Given the description of an element on the screen output the (x, y) to click on. 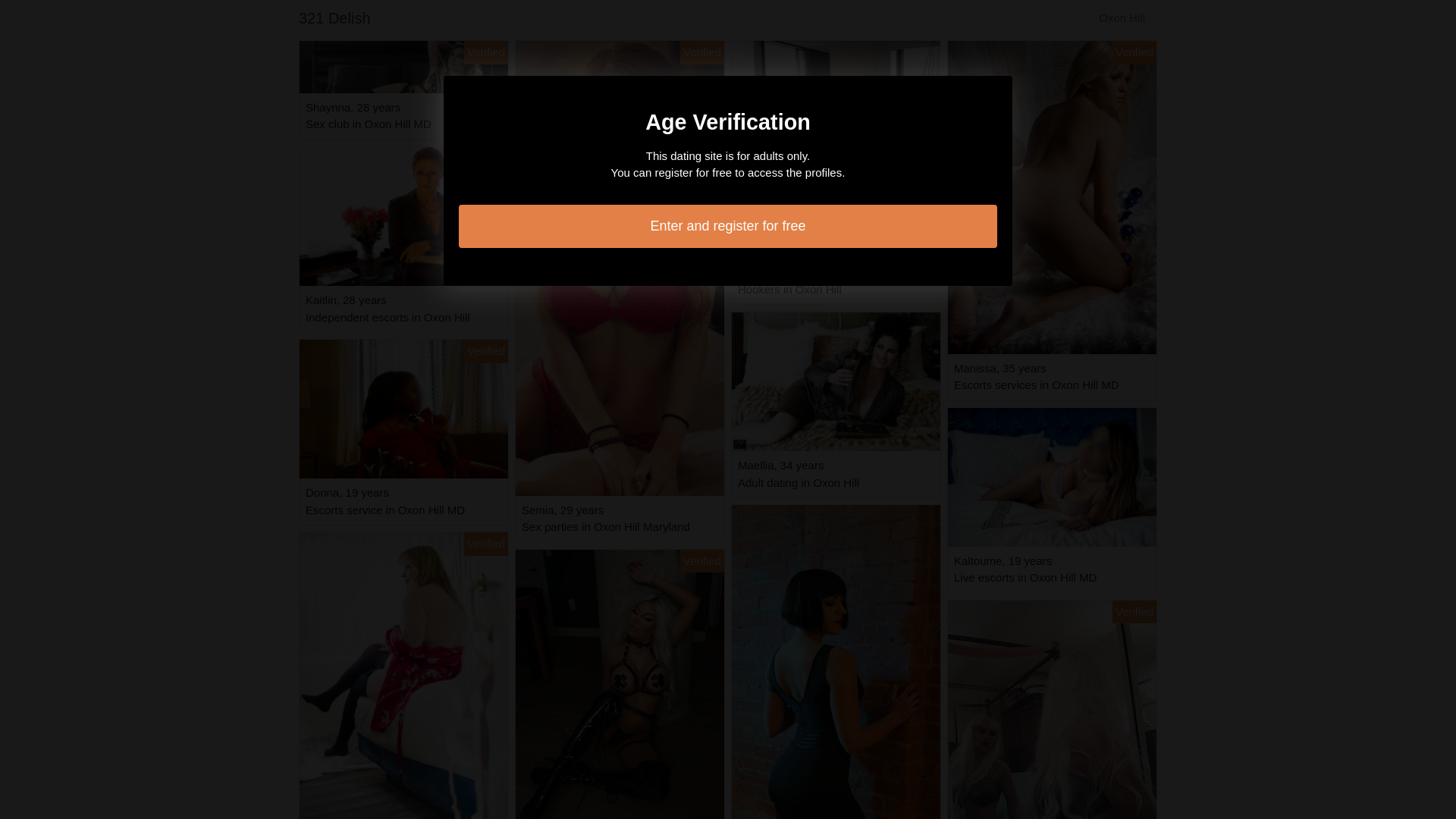
Enter and register for free Element type: text (727, 225)
321 Delish Element type: text (334, 18)
